Given the description of an element on the screen output the (x, y) to click on. 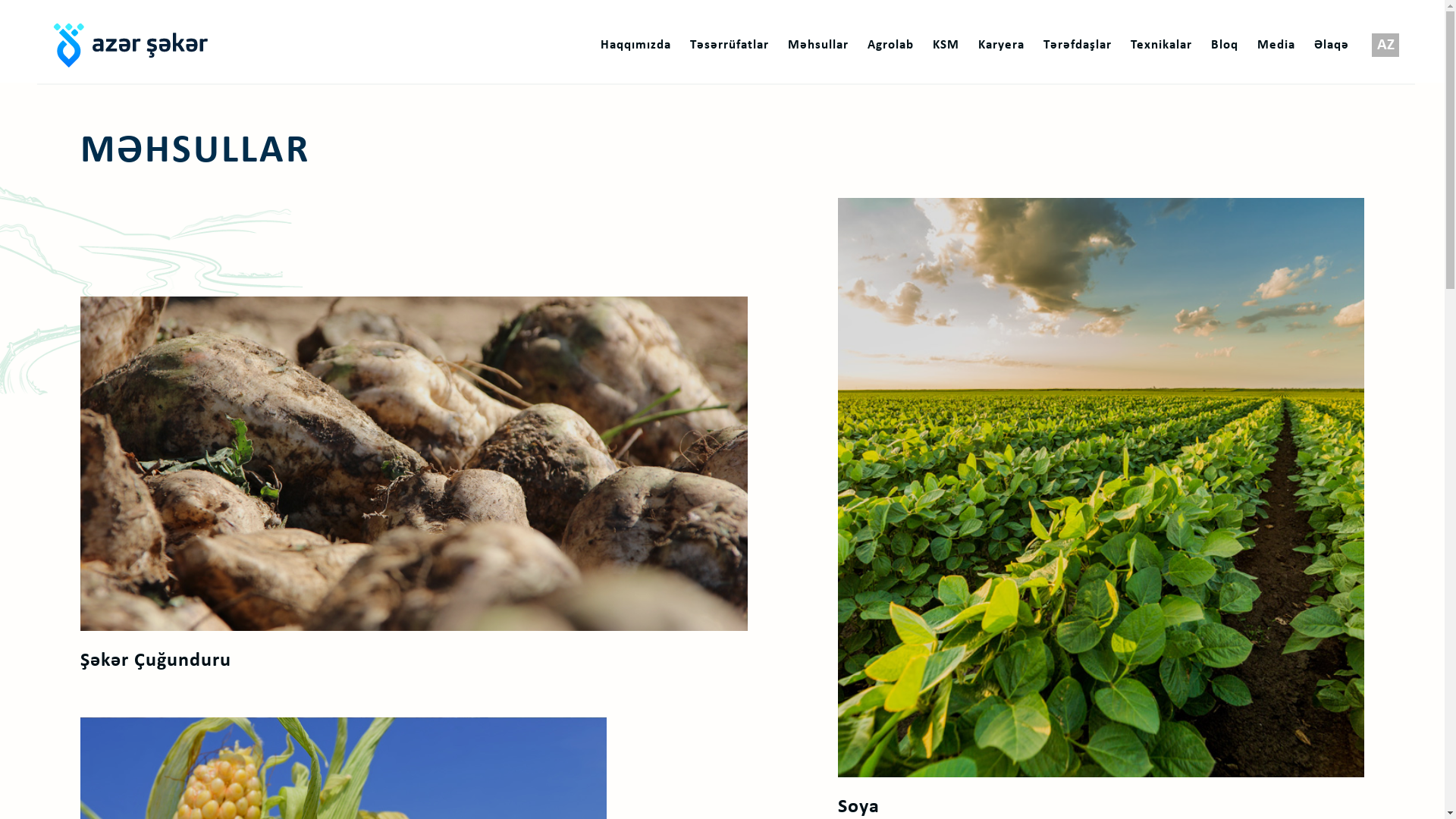
Texnikalar Element type: text (1161, 44)
Bloq Element type: text (1224, 44)
Media Element type: text (1276, 44)
KSM Element type: text (945, 44)
Agrolab Element type: text (890, 44)
Karyera Element type: text (1001, 44)
AZ Element type: text (1385, 45)
